Given the description of an element on the screen output the (x, y) to click on. 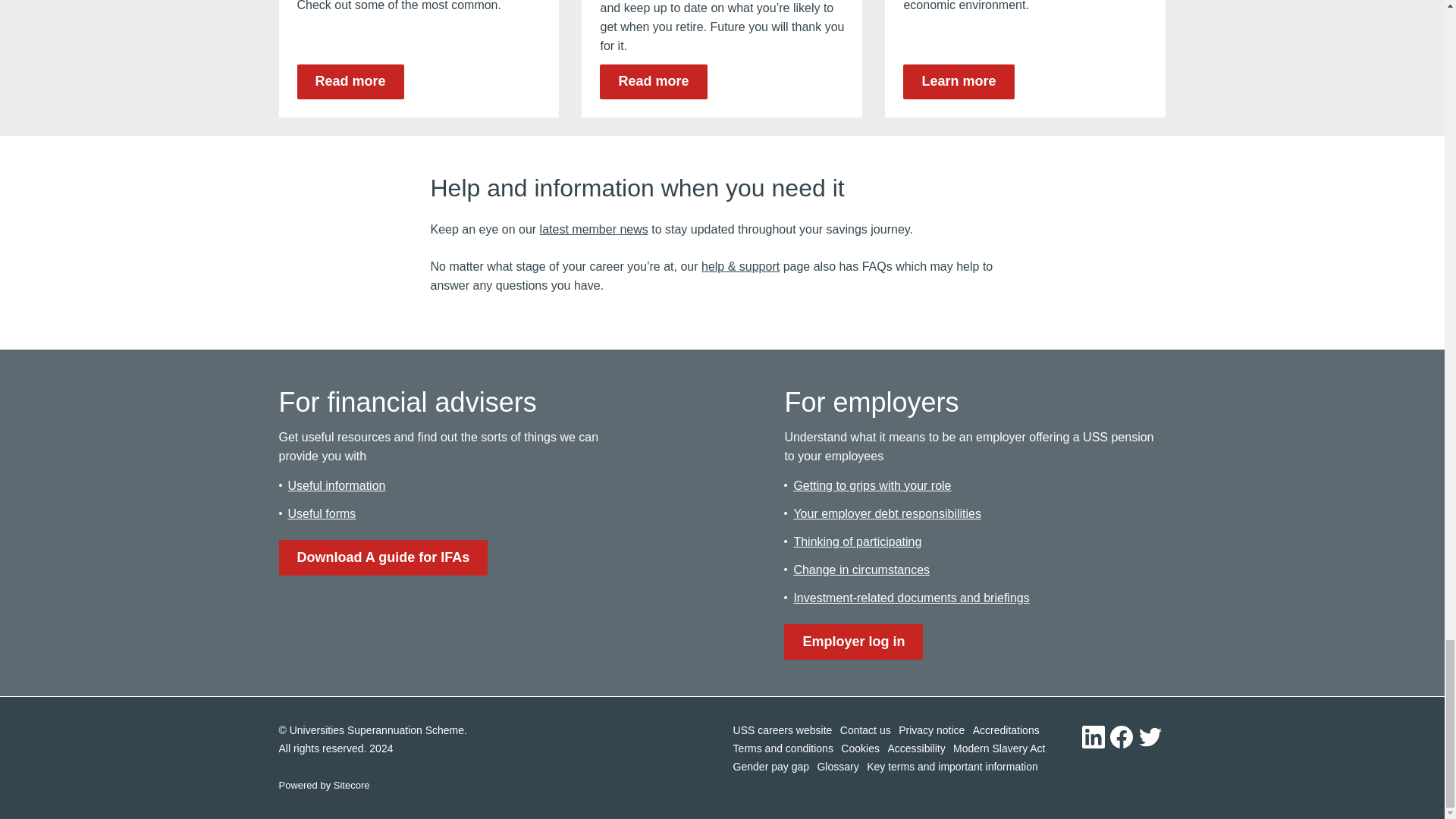
latest member news (593, 229)
Useful forms (322, 513)
Getting to grips with your role (871, 485)
Useful information (336, 485)
Downloads or opens in a new window (383, 557)
Read more (652, 81)
Change in circumstances (861, 569)
Download A guide for IFAs (383, 557)
Investment-related documents and briefings (911, 597)
Learn more (957, 81)
